Given the description of an element on the screen output the (x, y) to click on. 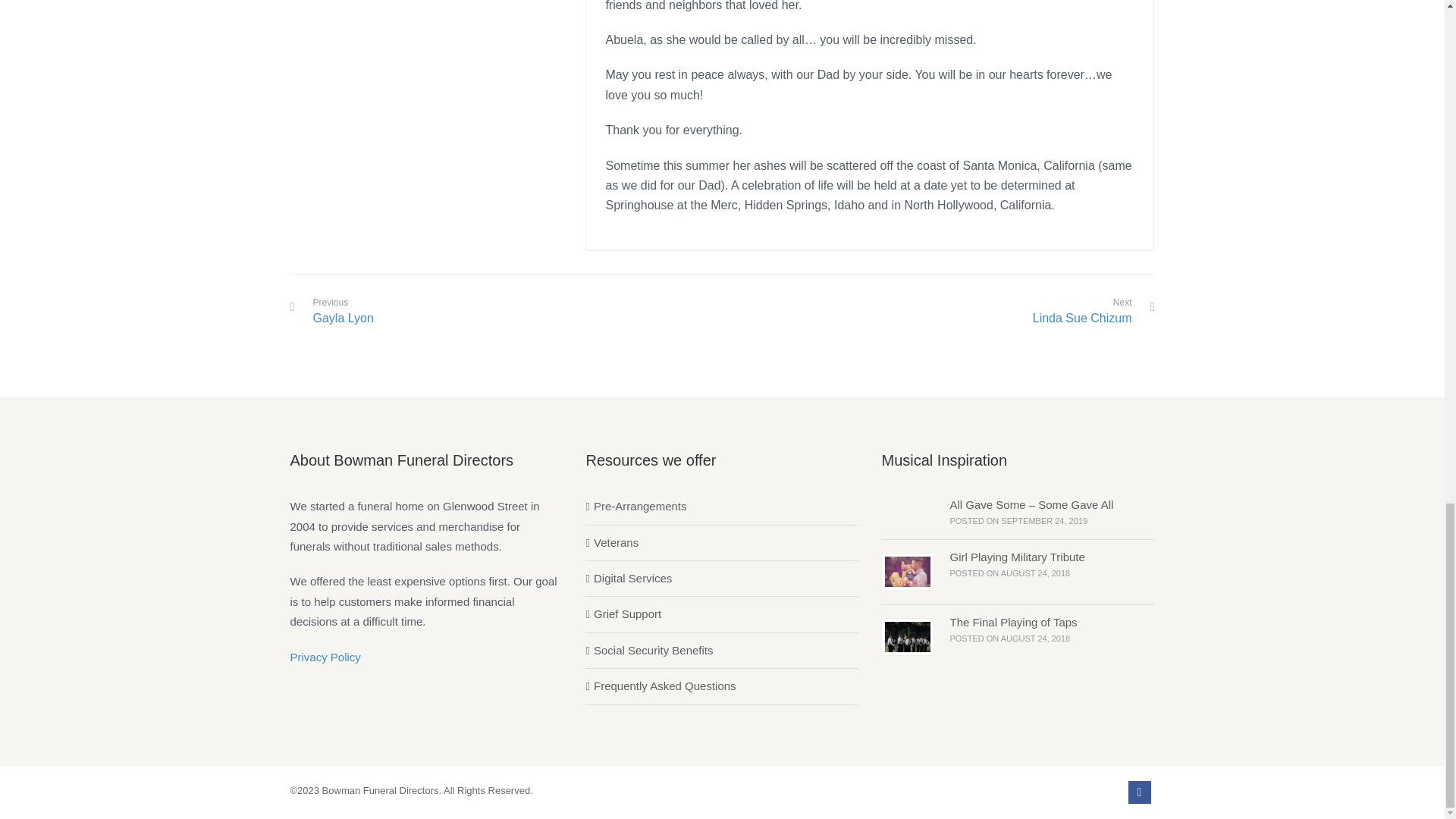
Veterans (612, 542)
Digital Services (628, 578)
Grief Support (623, 614)
Linda Sue Chizum (1082, 318)
Social Security Benefits (649, 650)
Pre-Arrangements (635, 506)
Privacy Policy (324, 656)
